Given the description of an element on the screen output the (x, y) to click on. 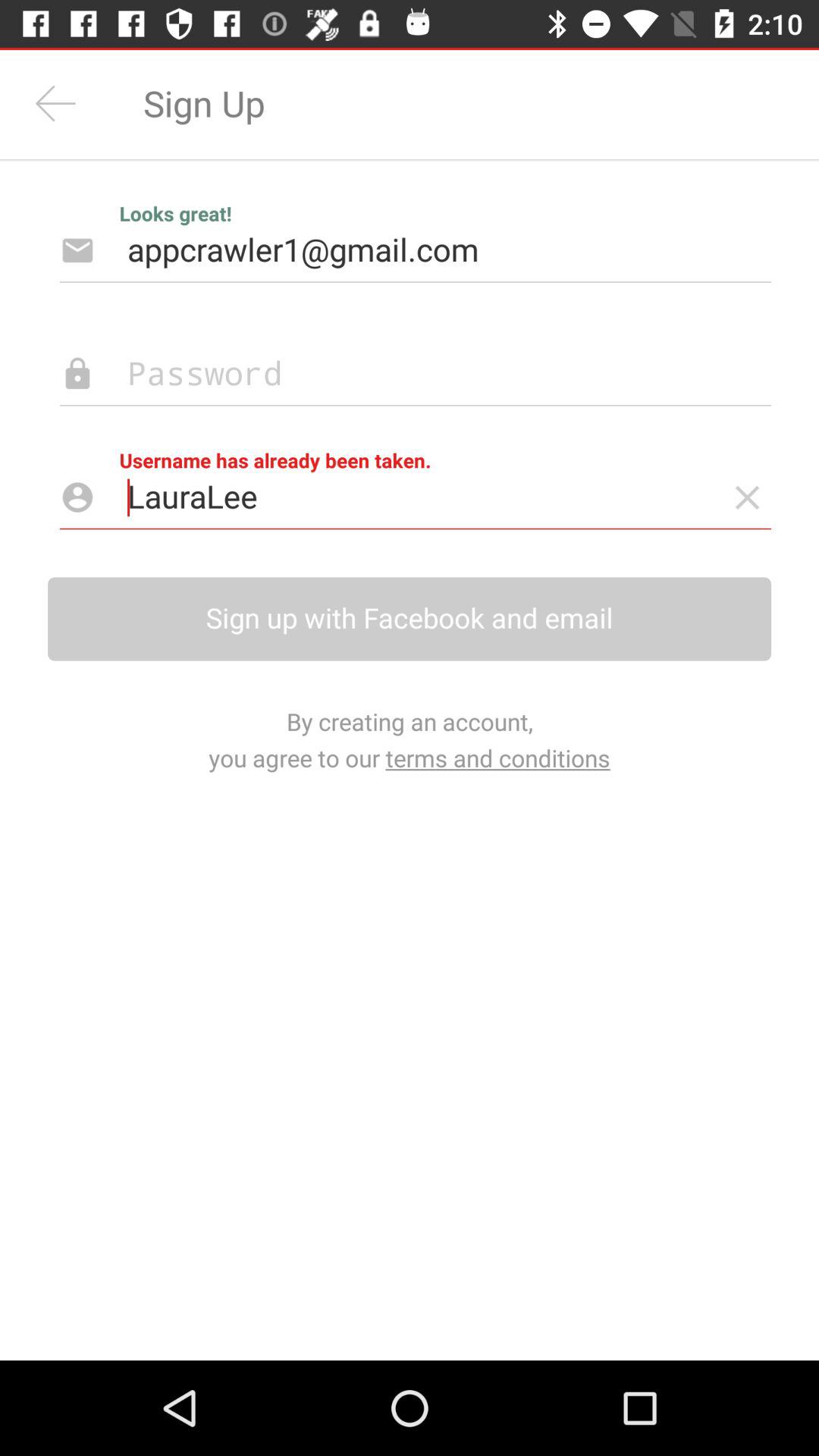
inder pega (747, 497)
